Given the description of an element on the screen output the (x, y) to click on. 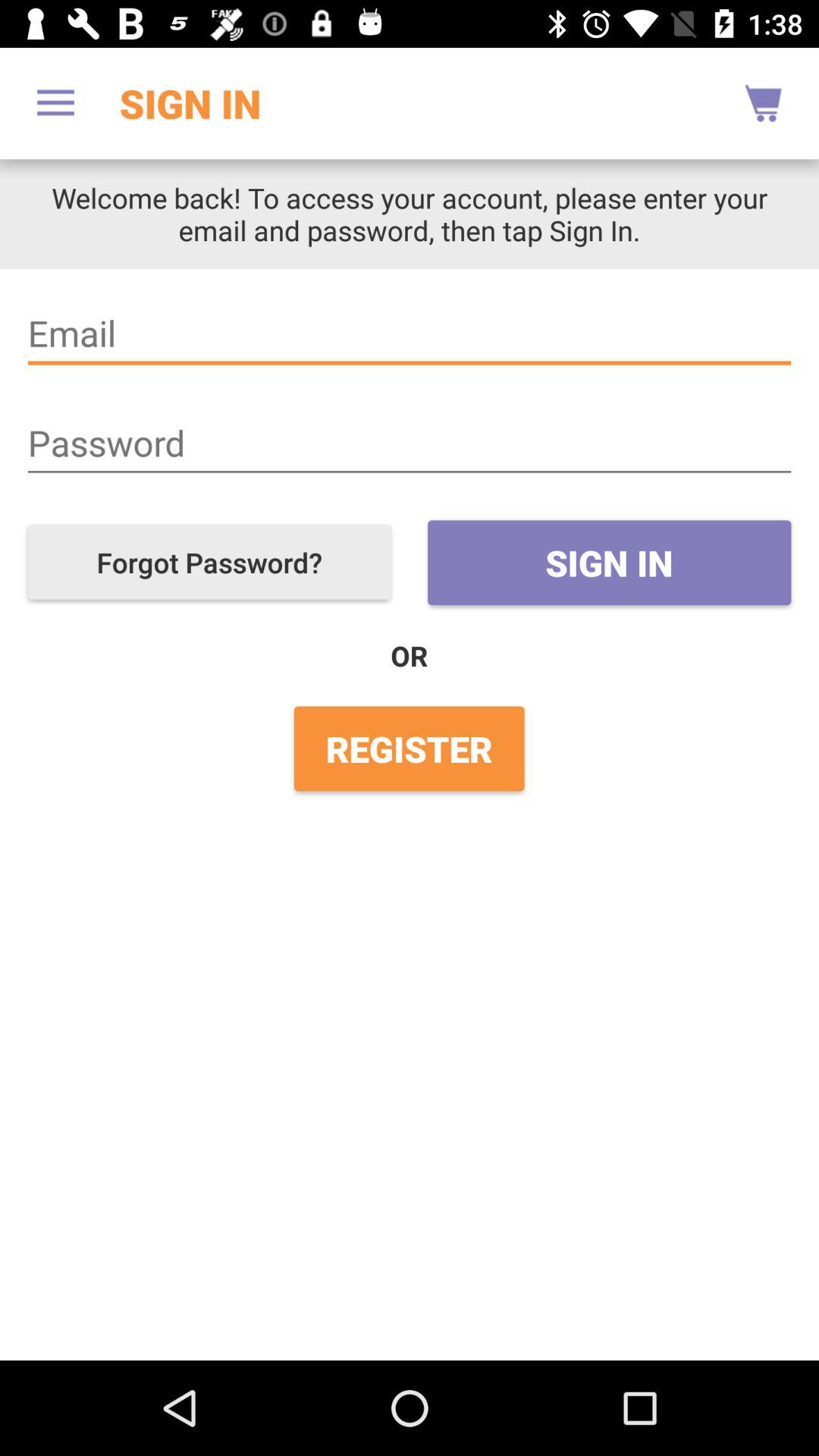
press the icon to the left of sign in item (55, 103)
